Given the description of an element on the screen output the (x, y) to click on. 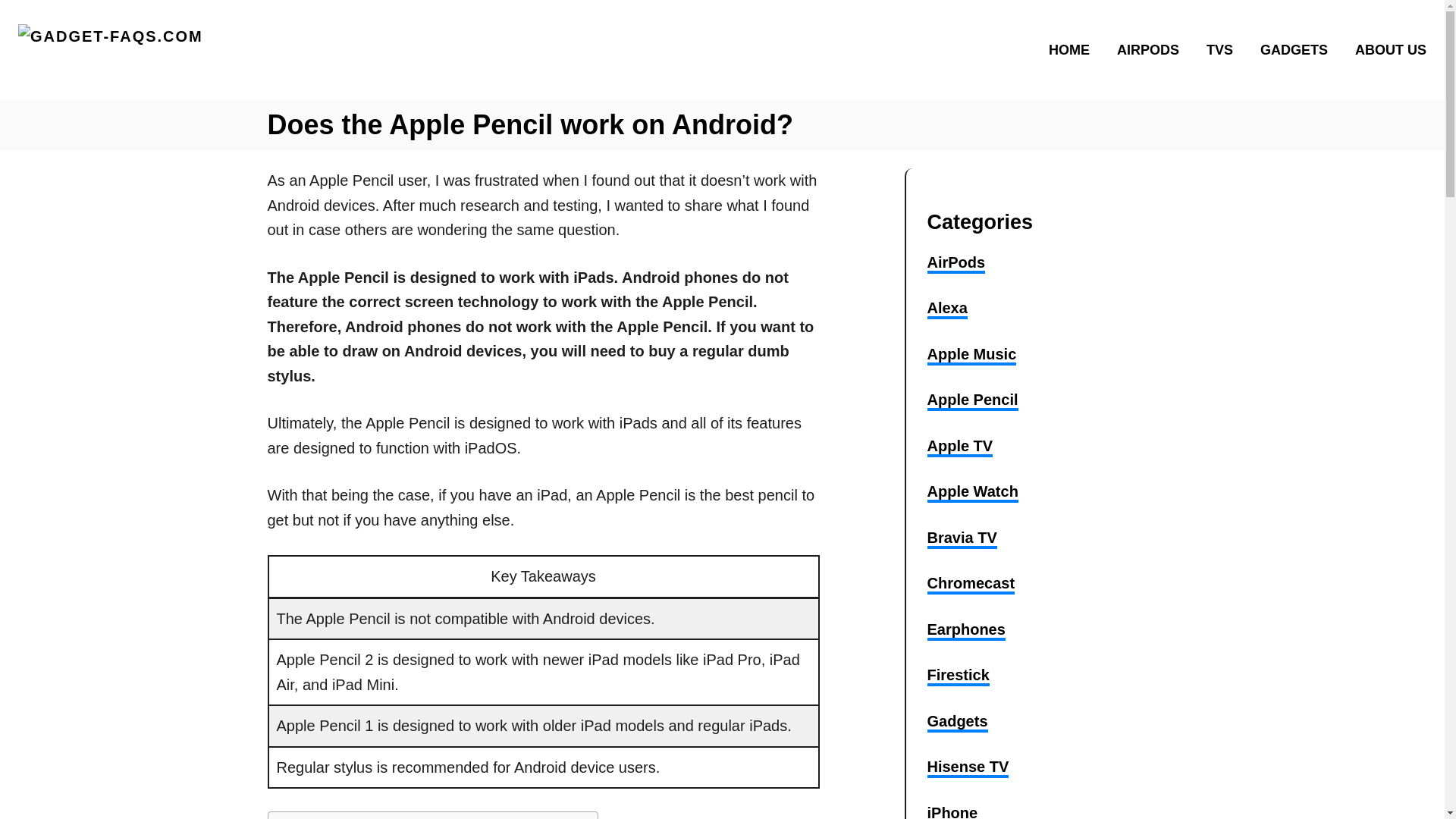
Apple Pencil (971, 401)
GADGETS (1297, 49)
Chromecast (970, 584)
Apple Watch (971, 492)
AIRPODS (1152, 49)
HOME (1073, 49)
AirPods (955, 263)
Apple TV (959, 447)
Firestick (957, 676)
Alexa (946, 309)
